Given the description of an element on the screen output the (x, y) to click on. 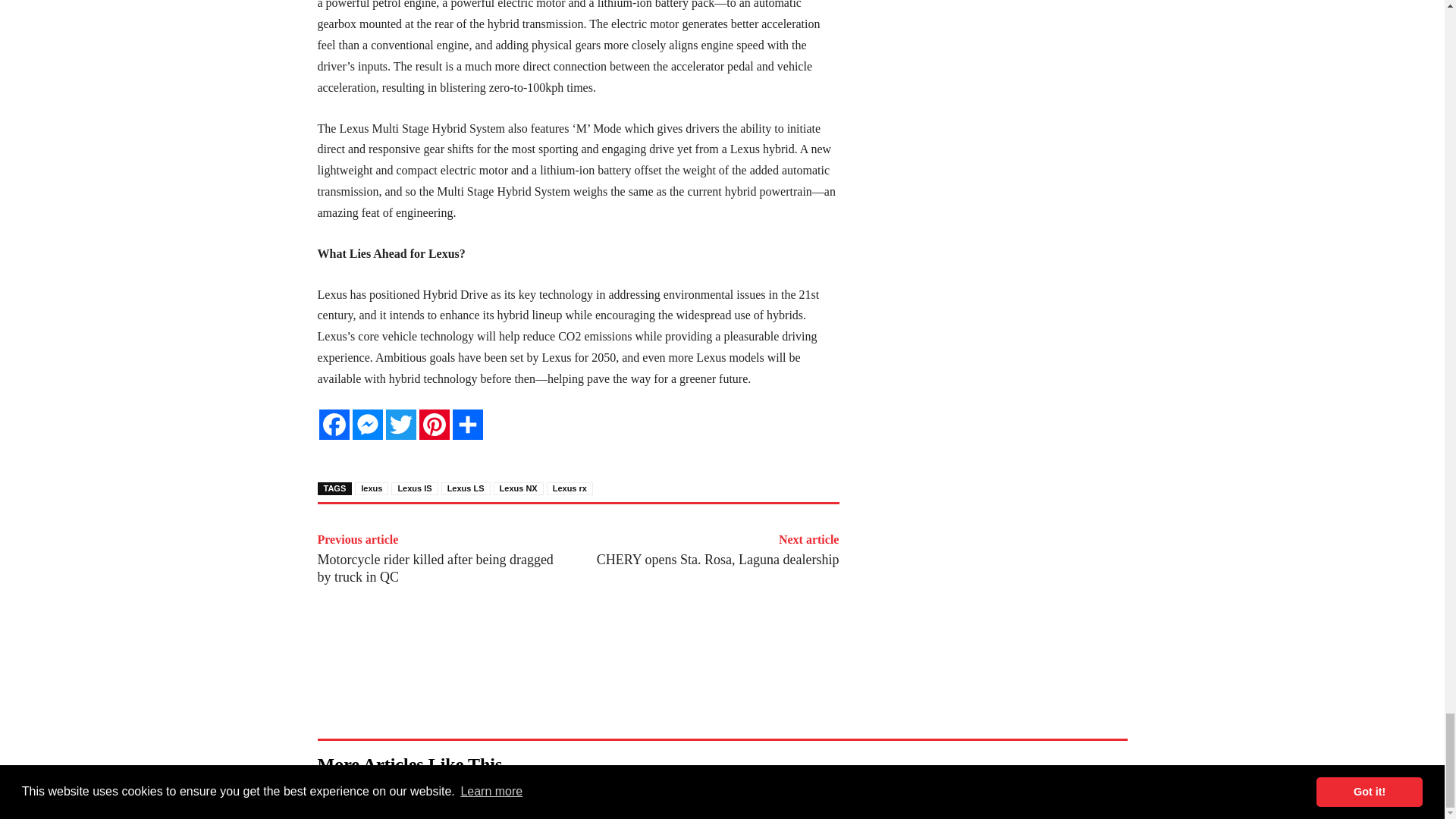
lexus (371, 488)
CHERY opens Sta. Rosa, Laguna dealership (718, 559)
Lexus rx (569, 488)
Lexus LS (465, 488)
Lexus NX (518, 488)
Lexus IS (414, 488)
Motorcycle rider killed after being dragged by truck in QC (435, 568)
